Given the description of an element on the screen output the (x, y) to click on. 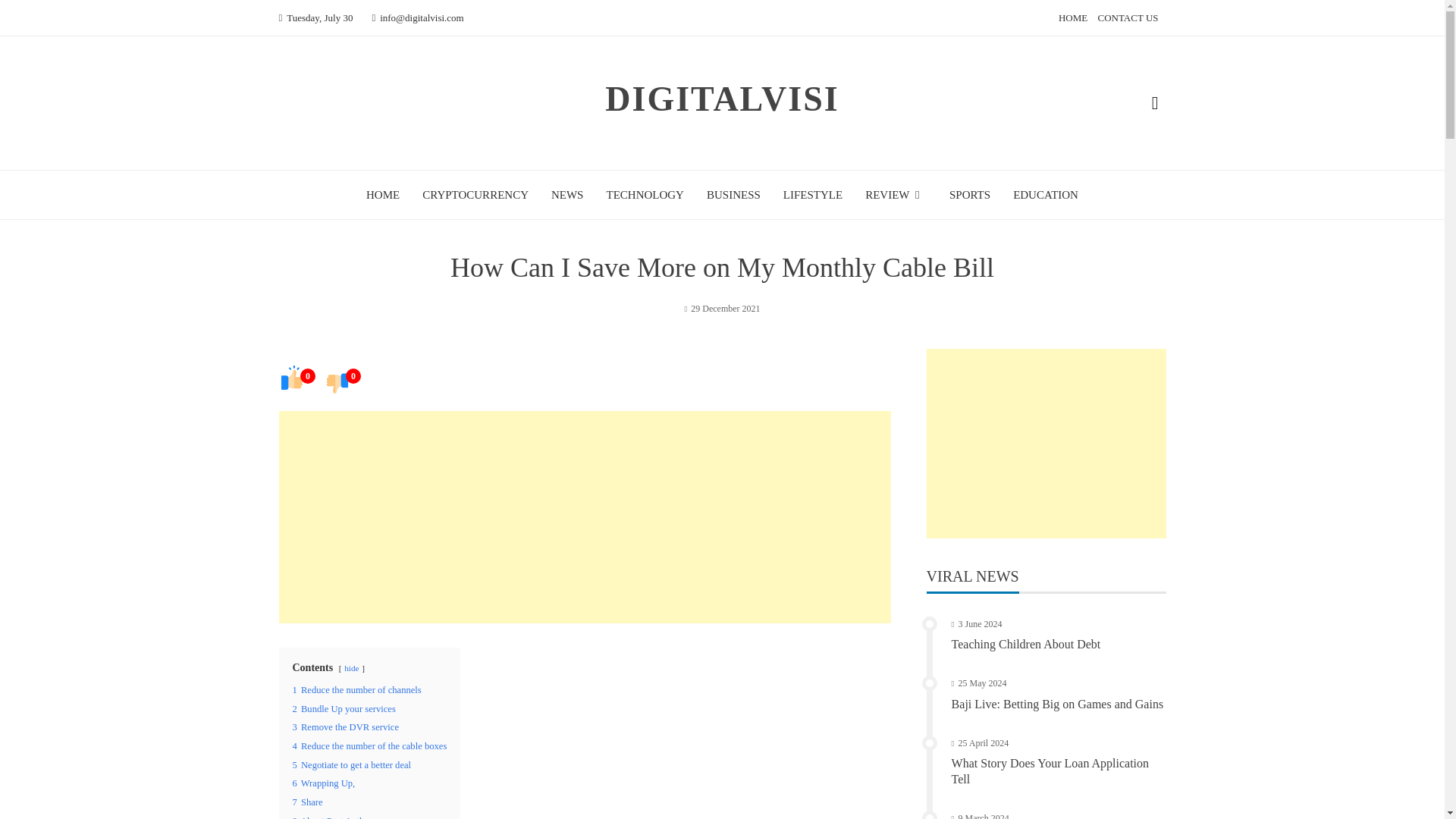
REVIEW (895, 194)
4 Reduce the number of the cable boxes (369, 746)
DIGITALVISI (721, 98)
HOME (382, 194)
LIFESTYLE (813, 194)
hide (350, 667)
3 Remove the DVR service (345, 726)
5 Negotiate to get a better deal (352, 765)
7 Share (307, 801)
8 About Post Author (332, 817)
CRYPTOCURRENCY (475, 194)
EDUCATION (1045, 194)
TECHNOLOGY (644, 194)
HOME (1072, 17)
NEWS (567, 194)
